Given the description of an element on the screen output the (x, y) to click on. 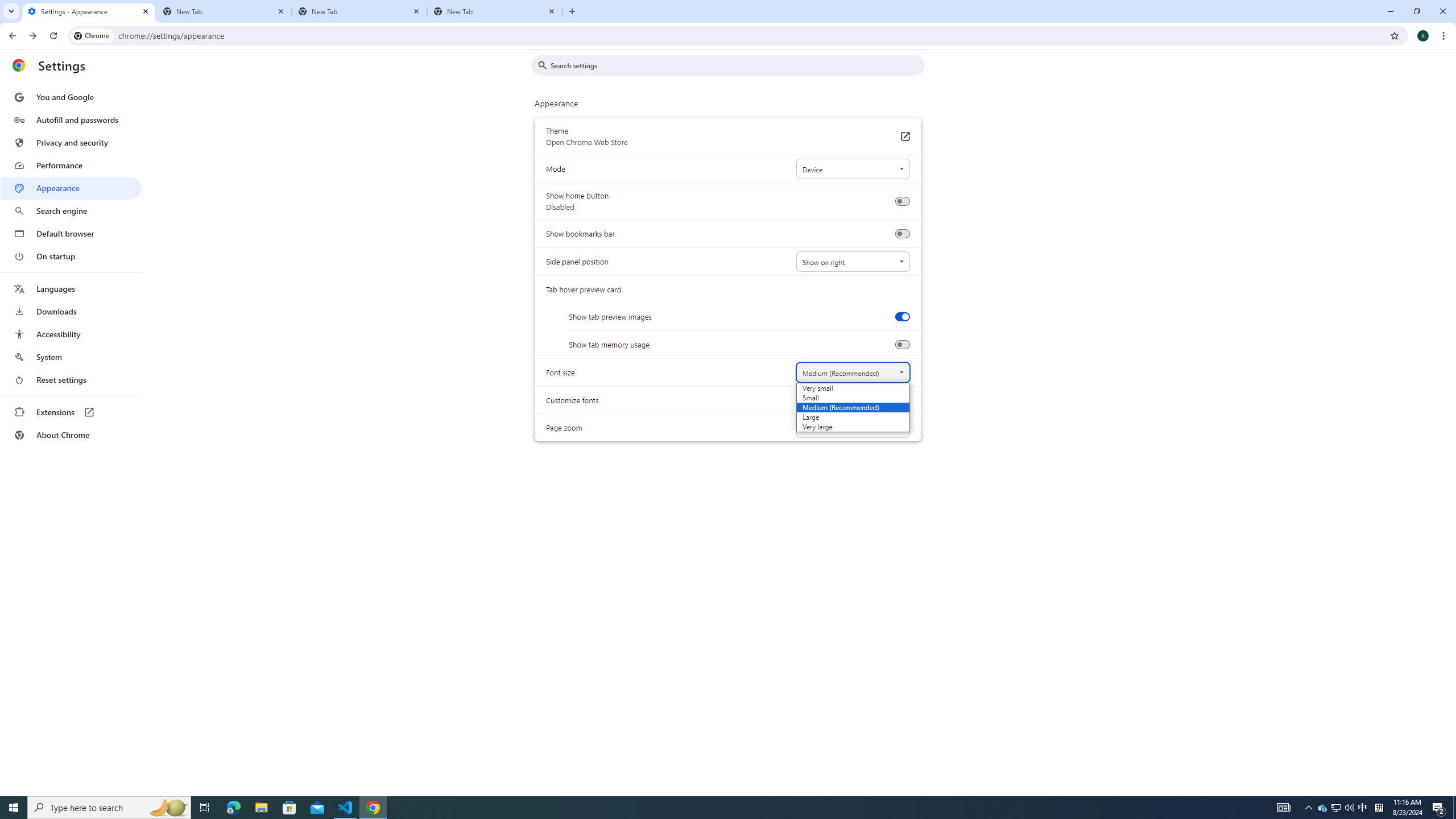
Reset settings (70, 379)
Mode (852, 168)
Medium (Recommended) (837, 406)
Show bookmarks bar (901, 234)
Default browser (70, 233)
Accessibility (70, 333)
Theme Open Chrome Web Store (904, 136)
Search engine (70, 210)
Very large (837, 426)
Show home button (901, 201)
Show tab preview images (901, 316)
